Given the description of an element on the screen output the (x, y) to click on. 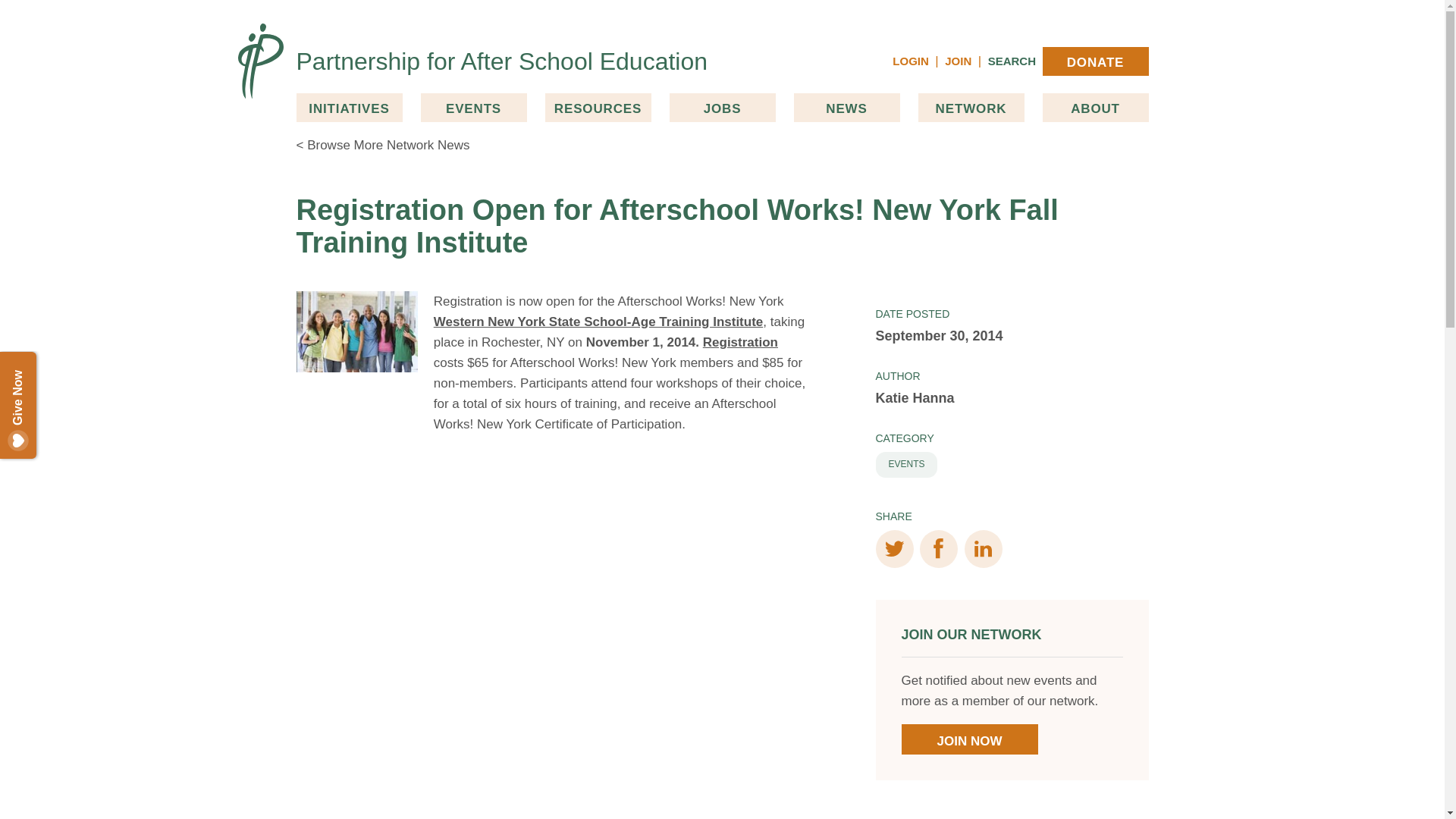
DONATE (1095, 61)
INITIATIVES (348, 107)
LOGIN (910, 60)
Persistent Donate Button (55, 371)
NEWS (846, 107)
Partnership for After School Education (501, 61)
SEARCH (1011, 60)
EVENTS (472, 107)
JOBS (721, 107)
JOIN (957, 60)
